Given the description of an element on the screen output the (x, y) to click on. 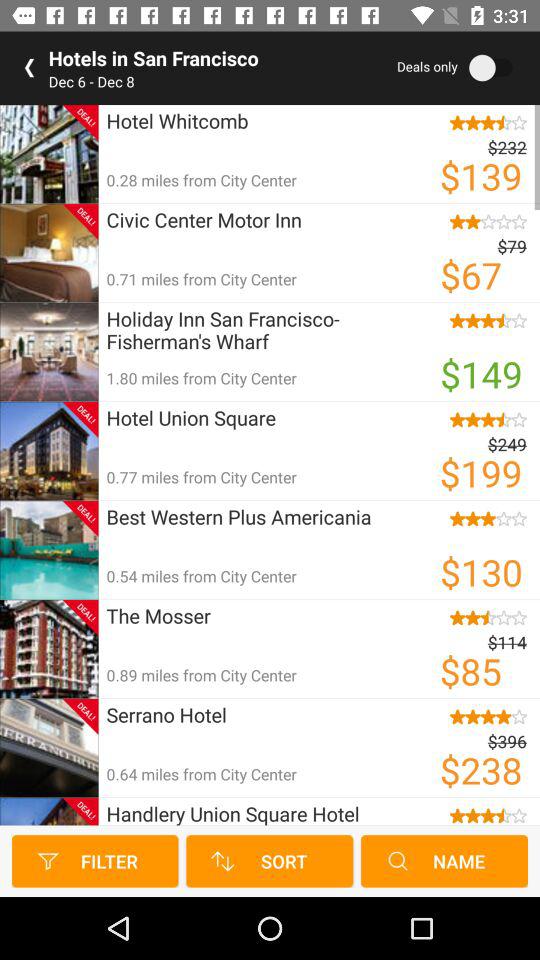
click on the stars next to hotel whitcomb (481, 122)
click on the sort button (269, 861)
